Given the description of an element on the screen output the (x, y) to click on. 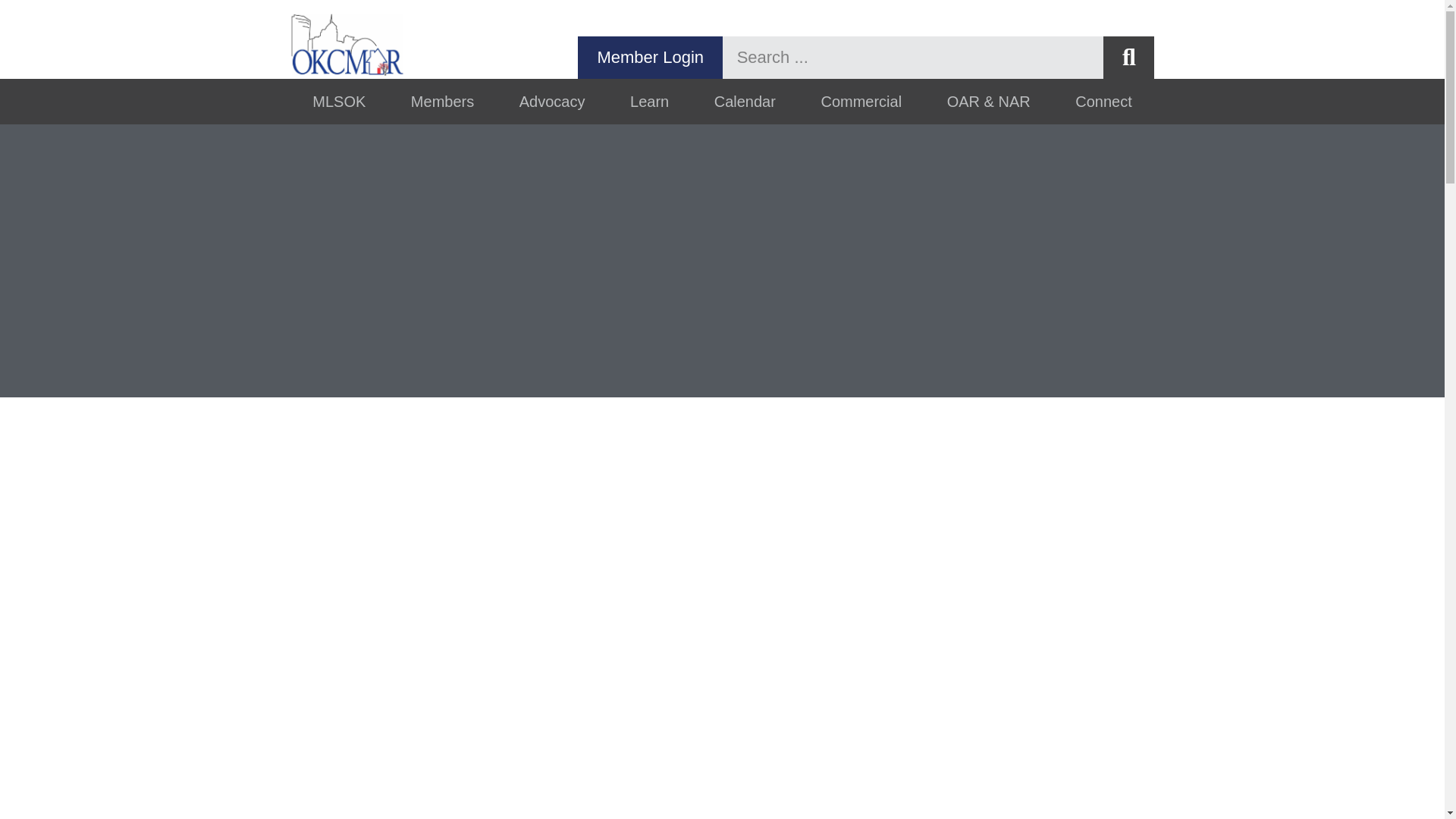
MLSOK (338, 101)
Learn (649, 101)
Advocacy (551, 101)
Members (442, 101)
Member Login (650, 57)
